Given the description of an element on the screen output the (x, y) to click on. 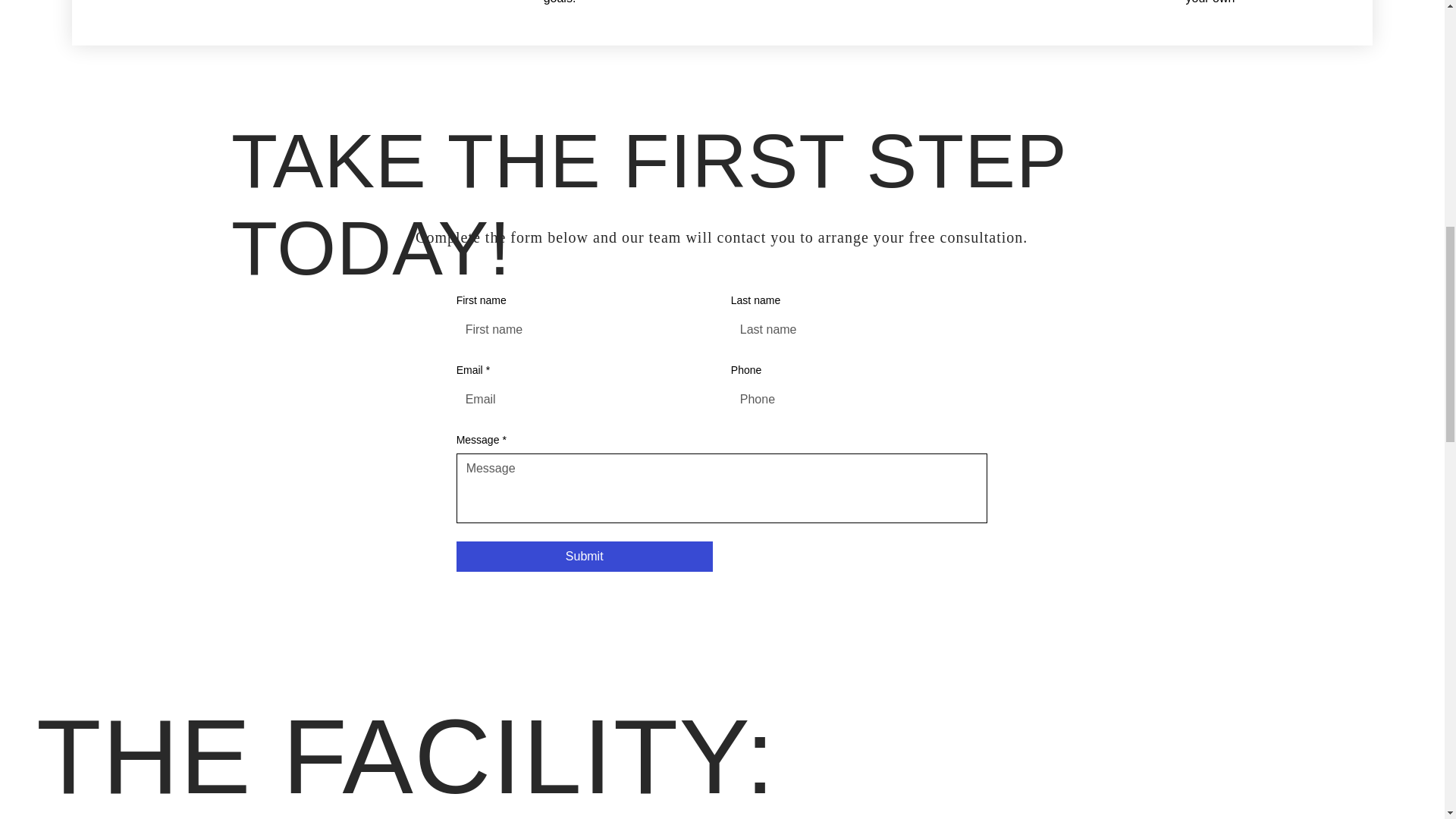
Submit (585, 556)
